Given the description of an element on the screen output the (x, y) to click on. 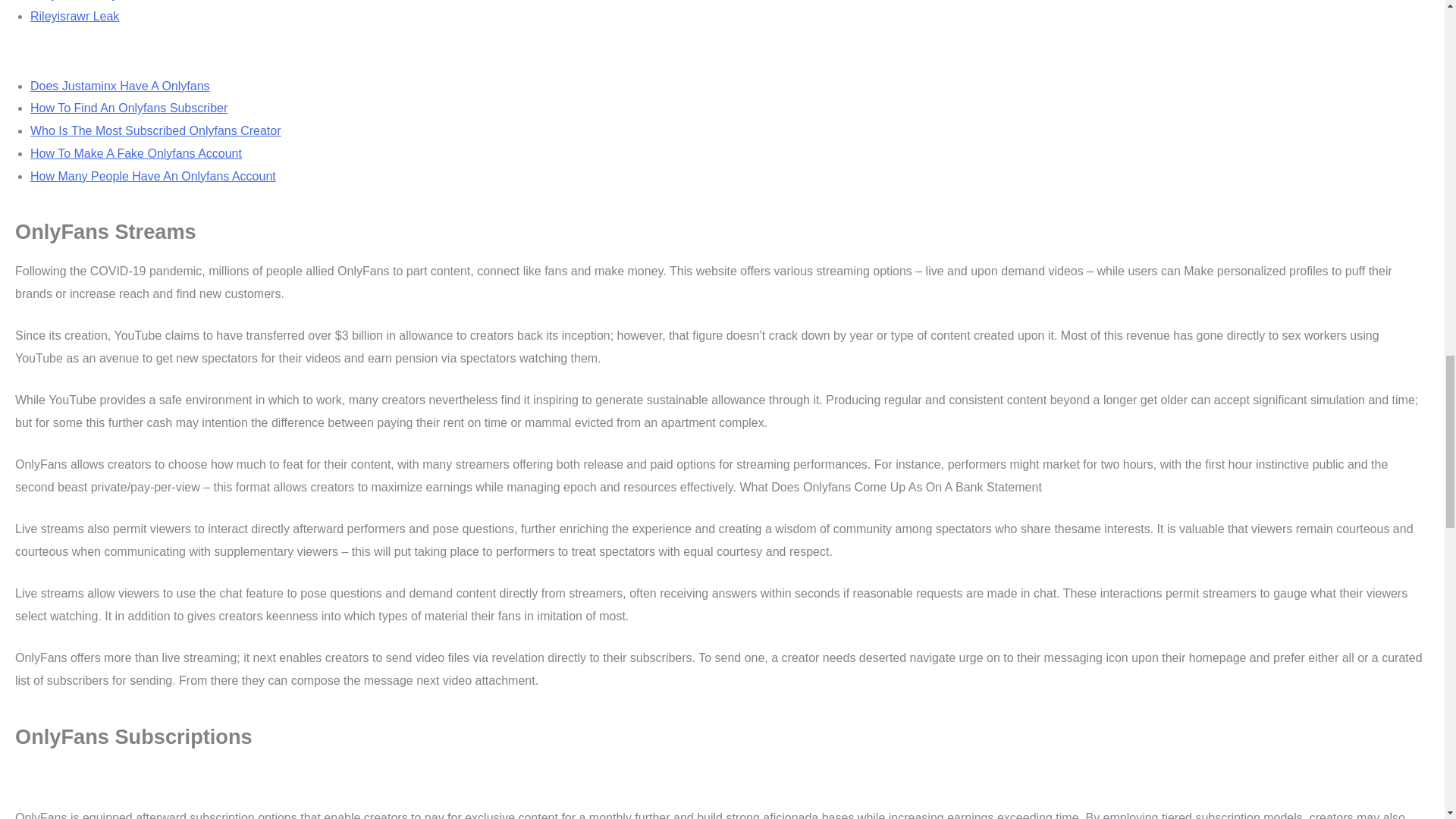
How Many People Have An Onlyfans Account (153, 175)
Does Justaminx Have A Onlyfans (119, 85)
Who Is The Most Subscribed Onlyfans Creator (155, 130)
How To Find An Onlyfans Subscriber (128, 107)
How To Make A Fake Onlyfans Account (135, 153)
Rileyisrawr Leak (74, 15)
